Given the description of an element on the screen output the (x, y) to click on. 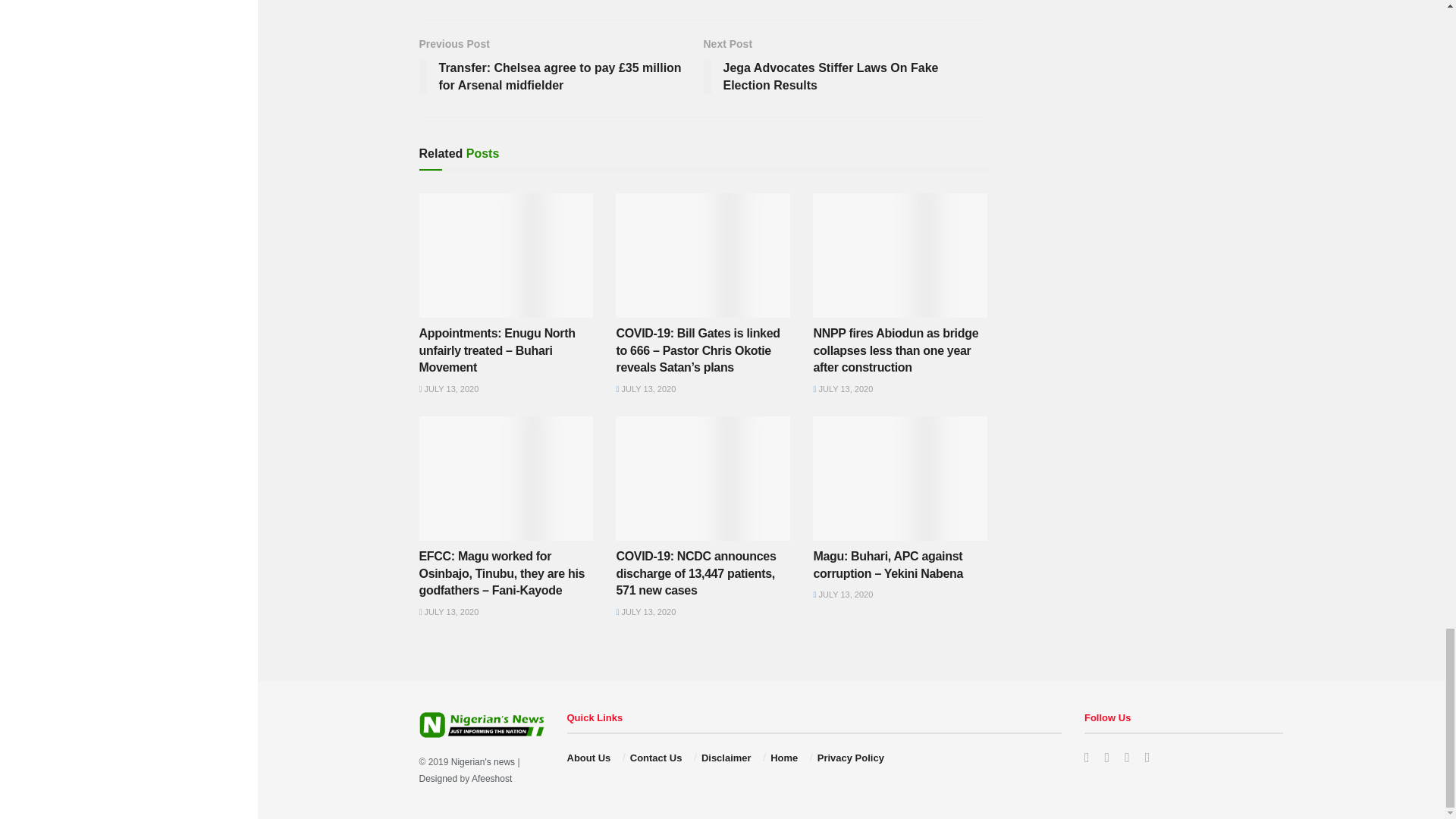
Website Design in Nigeria (438, 778)
Cheap Web Hosting Company in Nigeria  (491, 778)
Nigerian's news (483, 761)
